Given the description of an element on the screen output the (x, y) to click on. 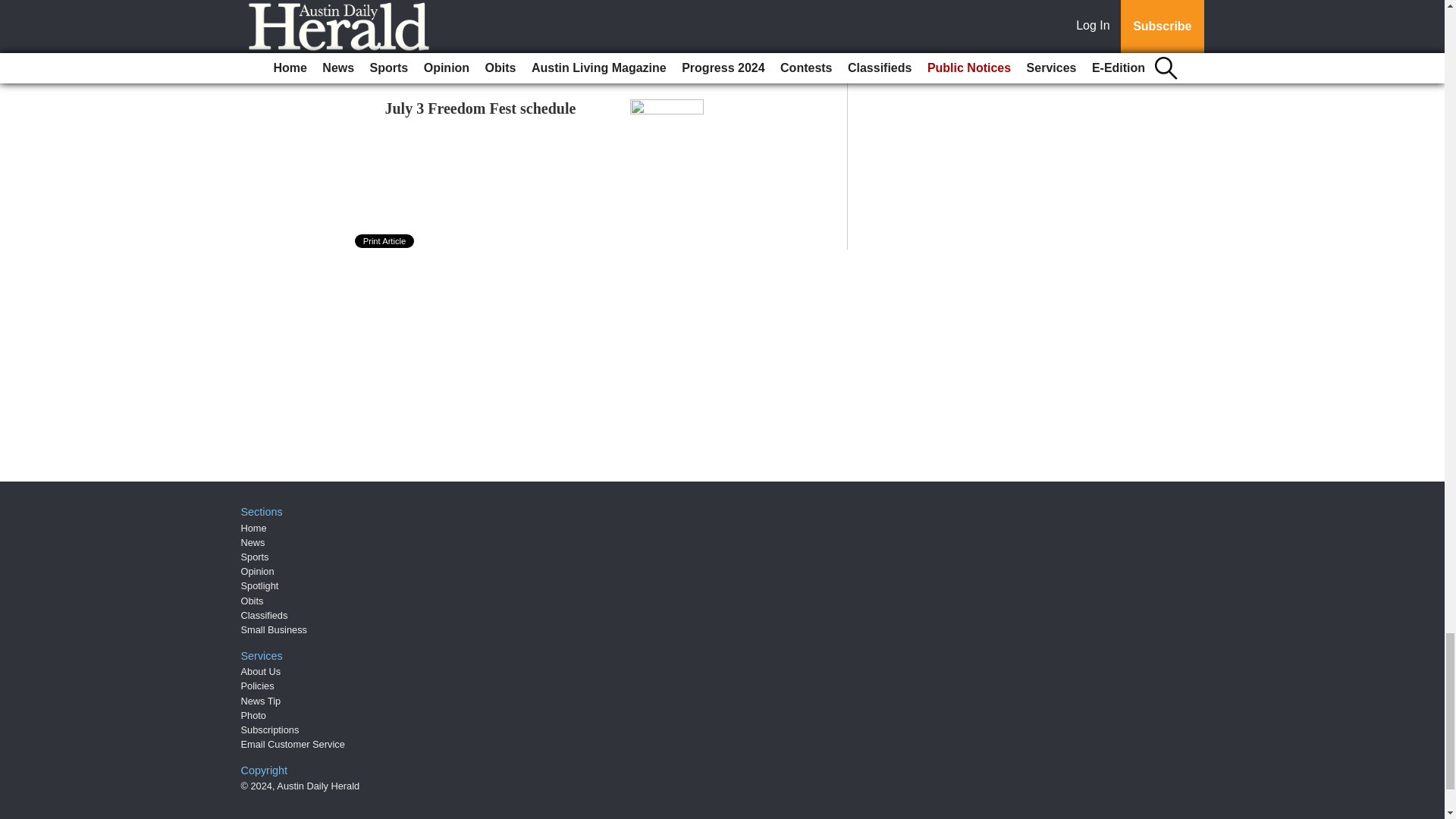
July 3 Freedom Fest schedule (480, 108)
